Given the description of an element on the screen output the (x, y) to click on. 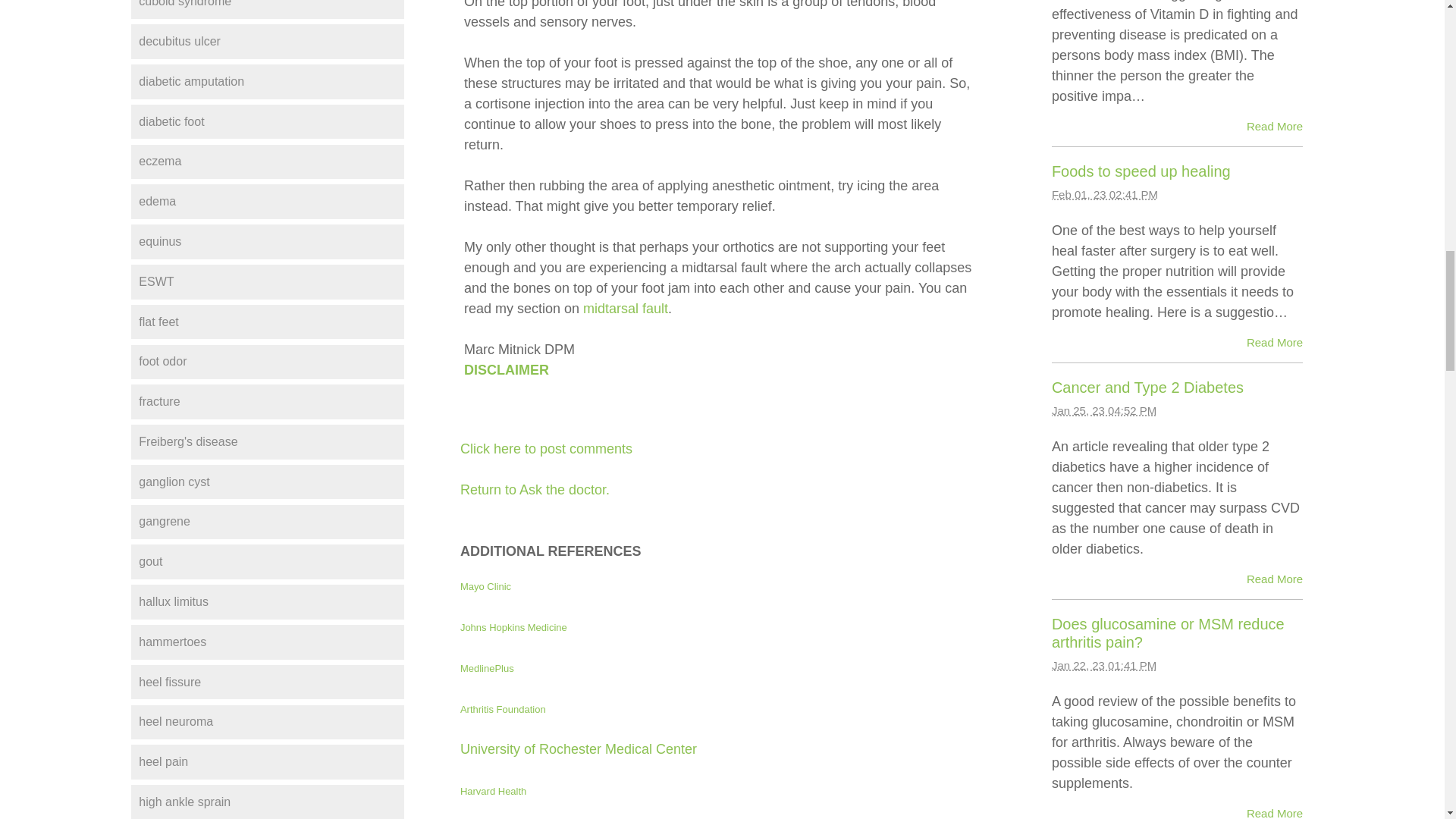
2023-02-01T14:41:41-0500 (1104, 194)
2023-01-22T13:41:39-0500 (1103, 665)
2023-01-25T16:52:22-0500 (1103, 410)
